Given the description of an element on the screen output the (x, y) to click on. 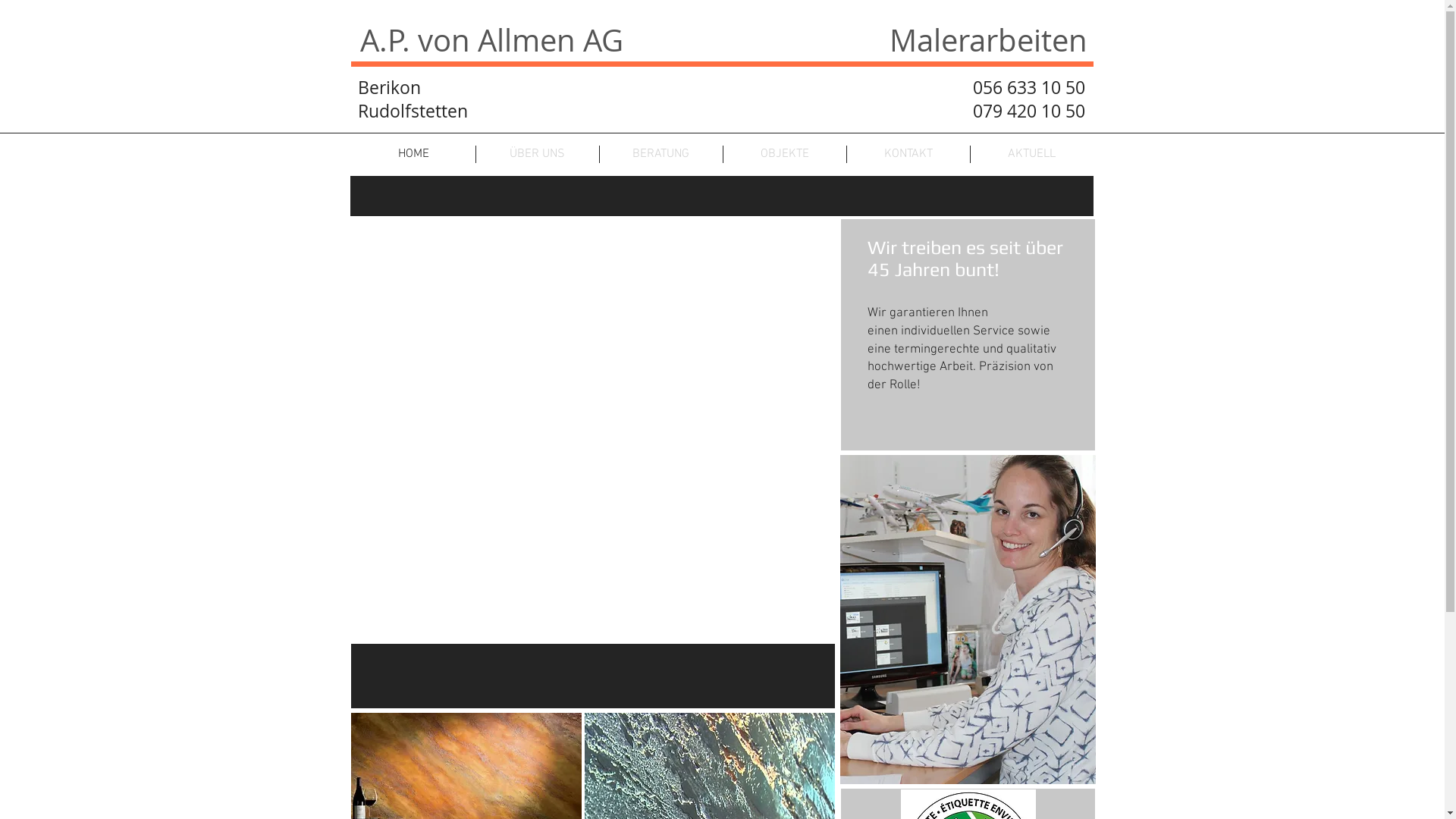
OBJEKTE Element type: text (784, 154)
A.P. von Allmen AG Element type: text (491, 39)
KONTAKT Element type: text (907, 154)
AKTUELL Element type: text (1031, 154)
HOME Element type: text (413, 154)
BERATUNG Element type: text (660, 154)
Malerarbeiten Element type: text (988, 39)
